Given the description of an element on the screen output the (x, y) to click on. 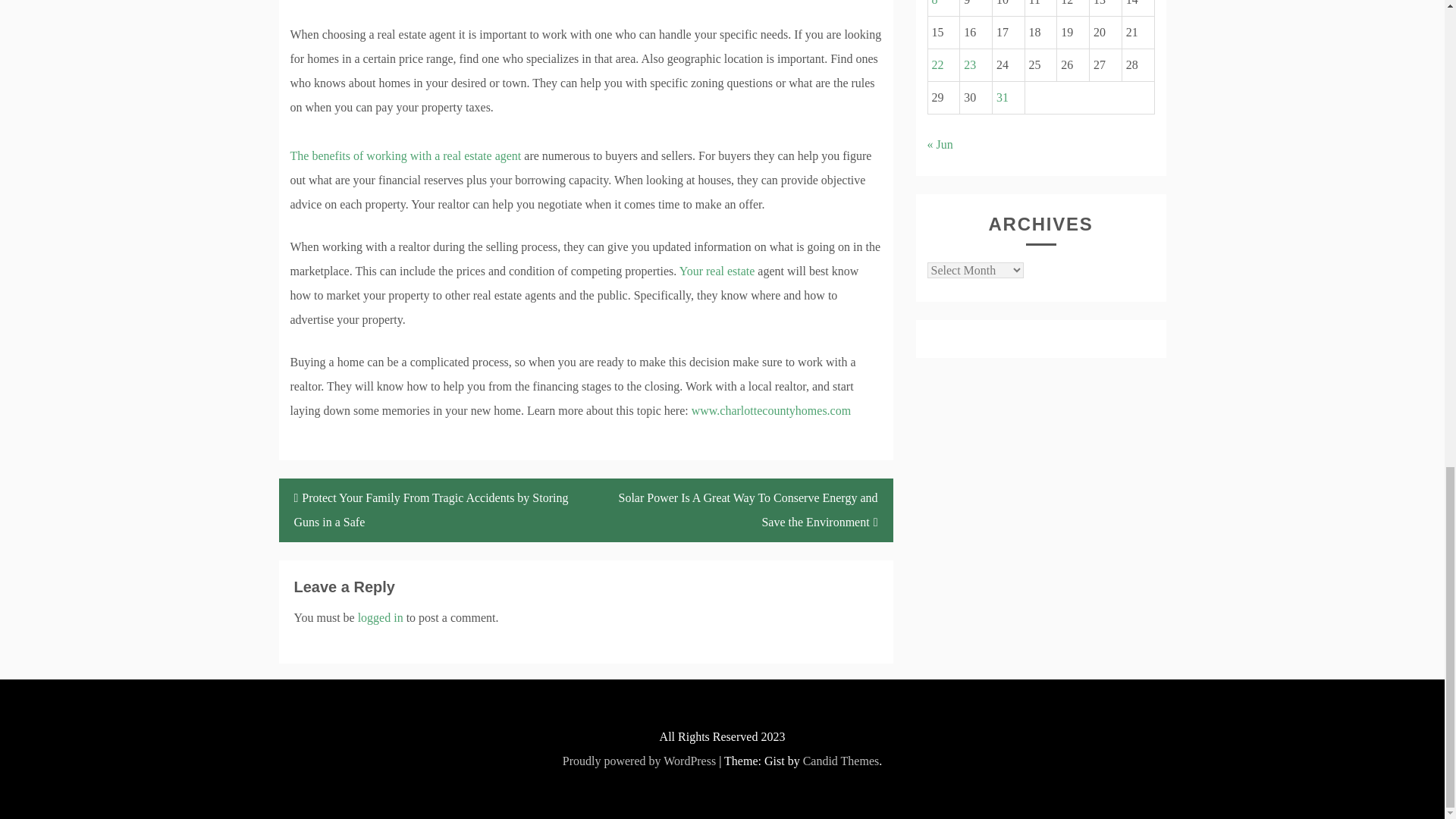
31 (1002, 97)
www.charlottecountyhomes.com (770, 410)
Port charlotte waterfront real estate (405, 167)
22 (937, 64)
Proudly powered by WordPress (639, 760)
The benefits of working with a real estate agent (405, 167)
8 (934, 2)
logged in (380, 617)
Port charlotte waterfront real estate (770, 410)
Candid Themes (841, 760)
23 (969, 64)
Your real estate (717, 270)
